Given the description of an element on the screen output the (x, y) to click on. 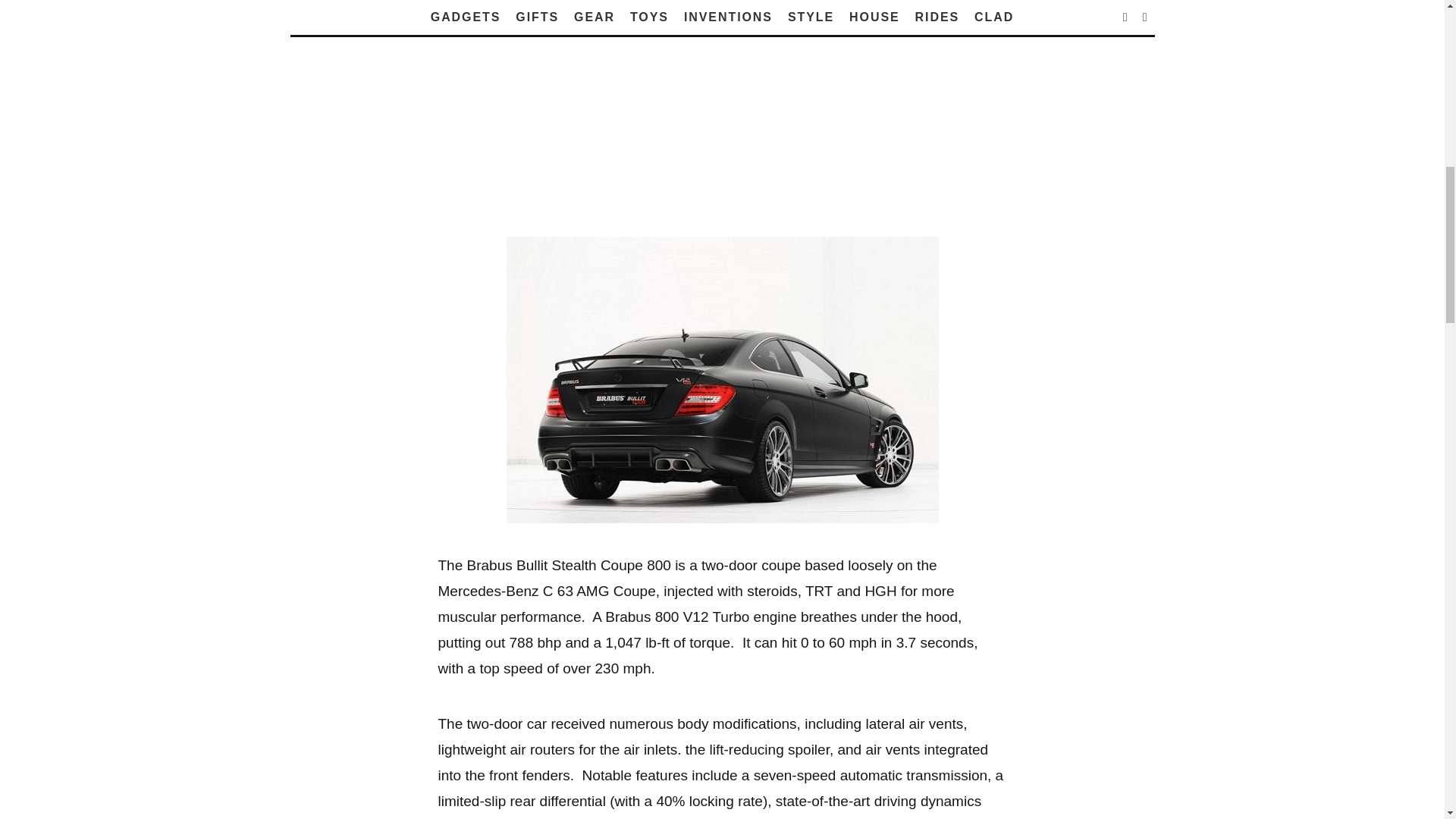
Advertisement (722, 124)
